Given the description of an element on the screen output the (x, y) to click on. 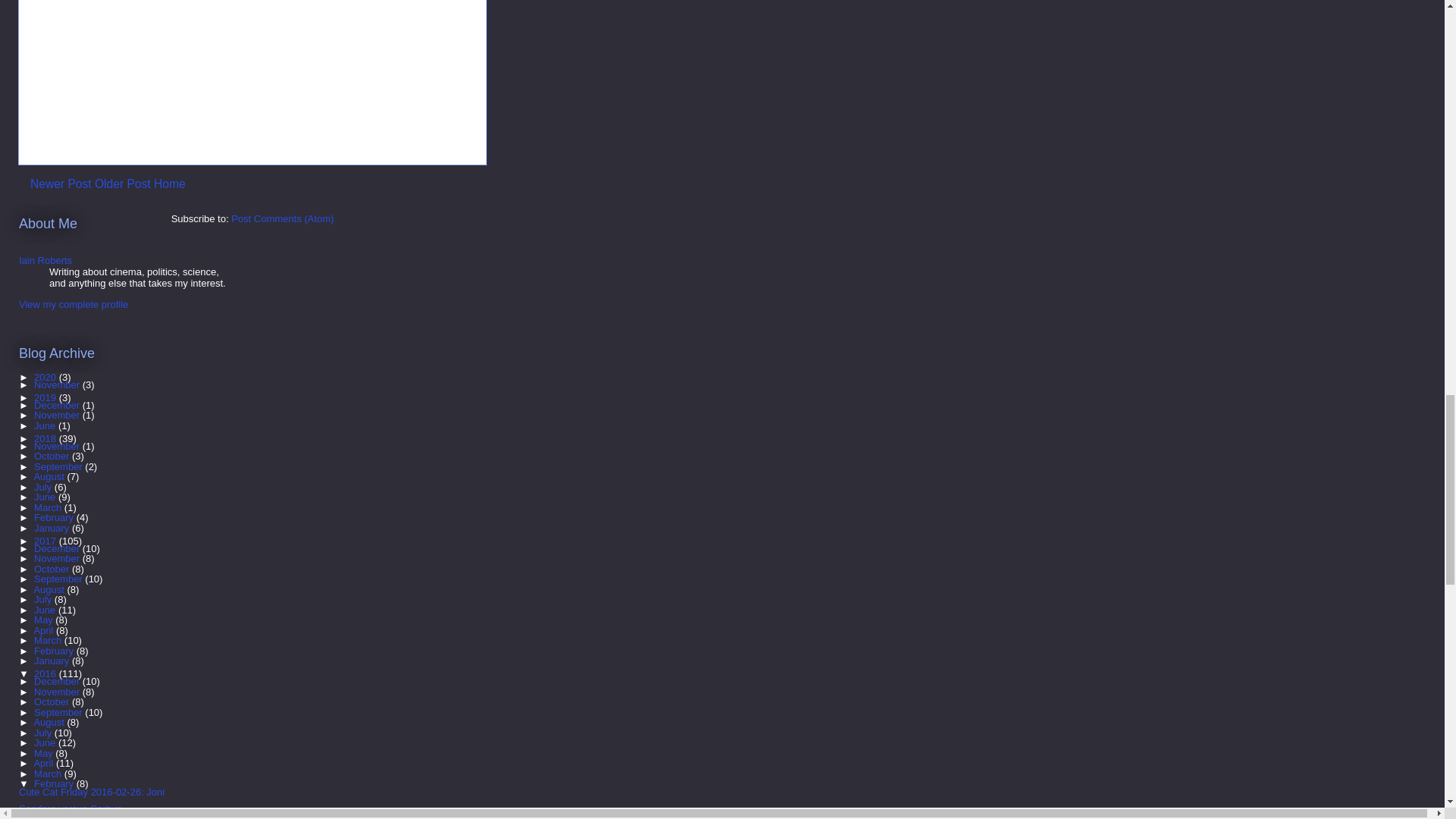
2020 (46, 377)
Newer Post (60, 183)
View my complete profile (73, 304)
Newer Post (60, 183)
Home (170, 183)
Older Post (122, 183)
Iain Roberts (44, 260)
Older Post (122, 183)
